Given the description of an element on the screen output the (x, y) to click on. 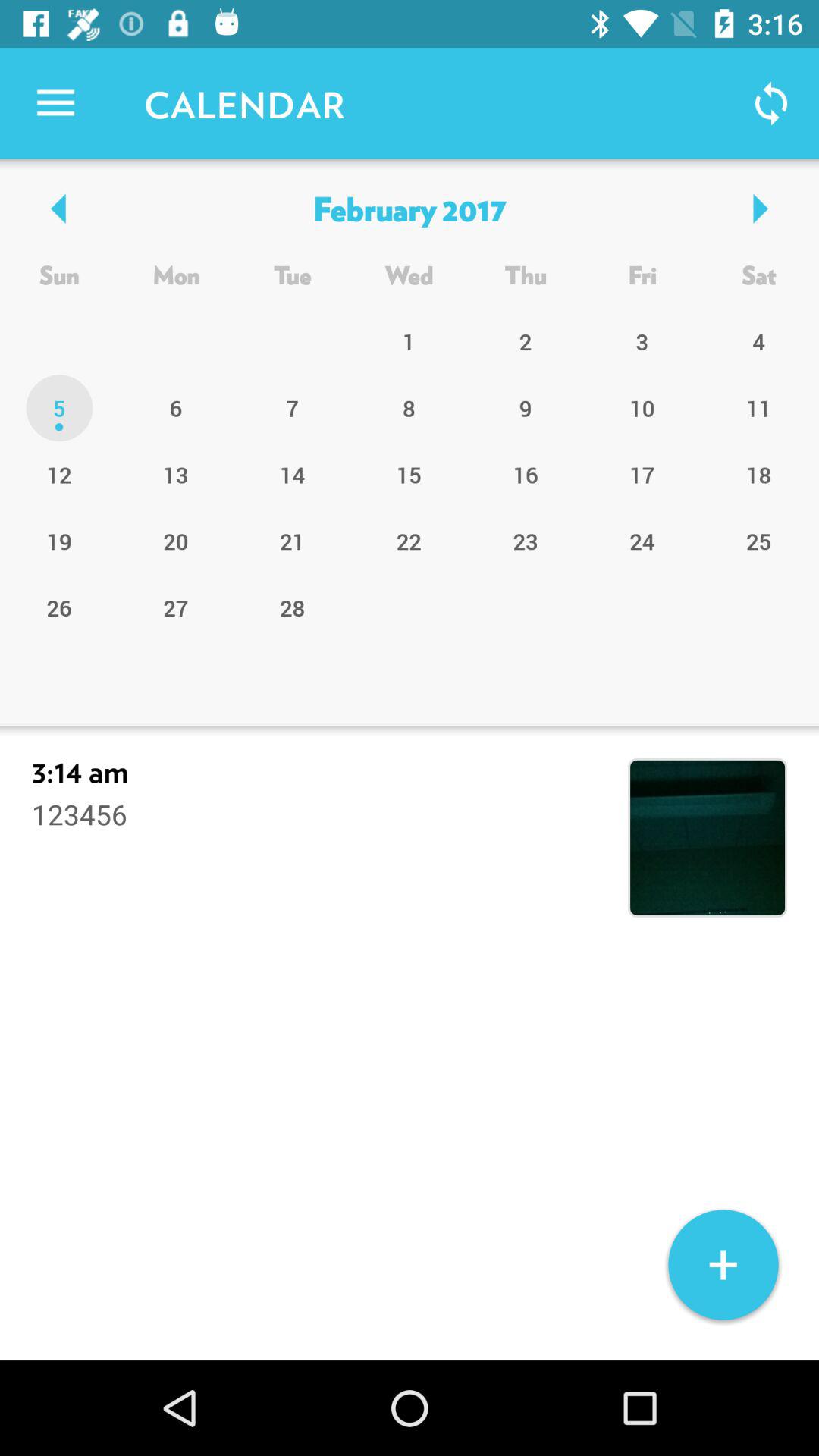
select item above the 26 icon (175, 540)
